Given the description of an element on the screen output the (x, y) to click on. 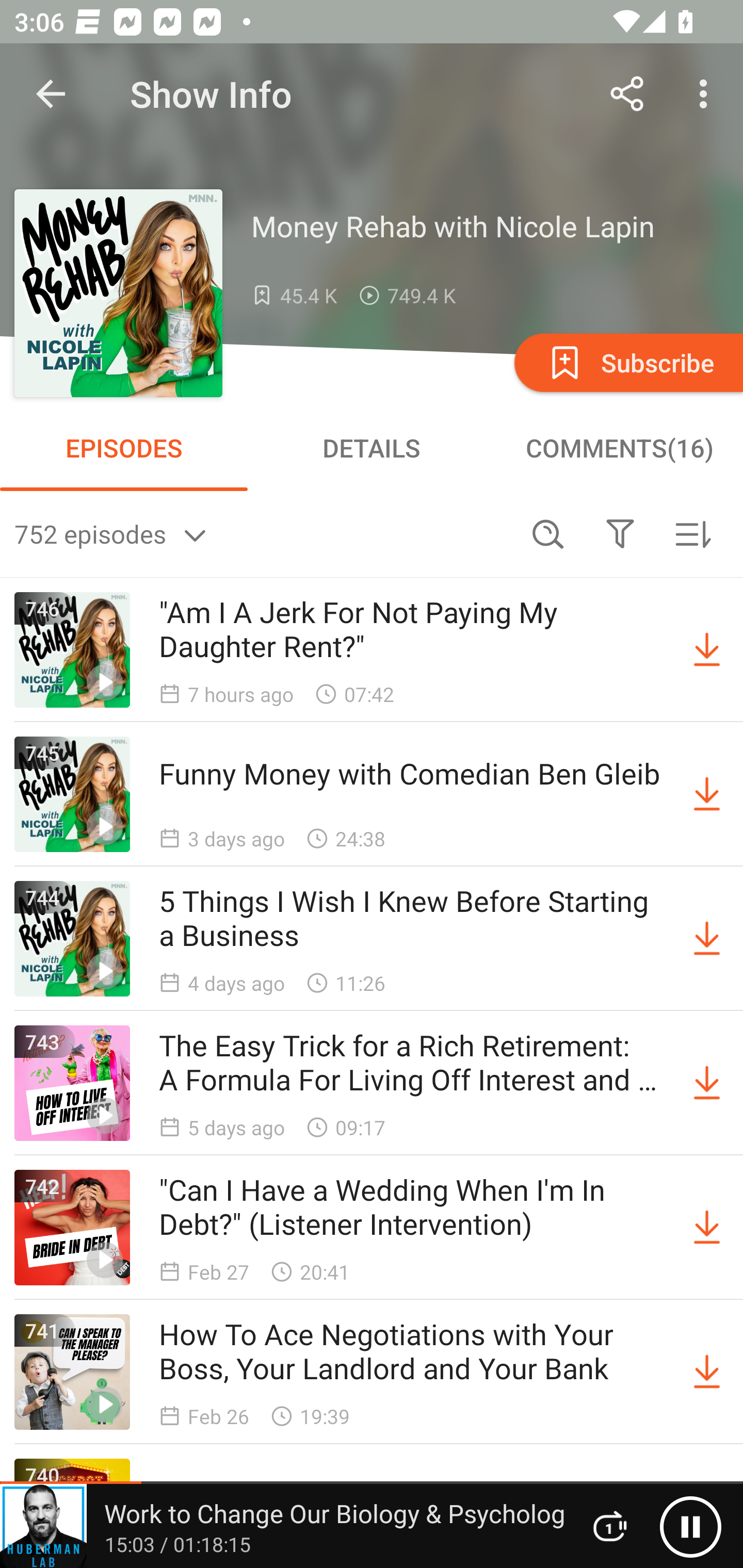
Navigate up (50, 93)
Share (626, 93)
More options (706, 93)
Subscribe (627, 361)
EPISODES (123, 447)
DETAILS (371, 447)
COMMENTS(16) (619, 447)
752 episodes  (262, 533)
 Search (547, 533)
 (619, 533)
 Sorted by newest first (692, 533)
Download (706, 649)
Download (706, 793)
Download (706, 939)
Download (706, 1083)
Download (706, 1227)
Download (706, 1371)
Pause (690, 1526)
